Given the description of an element on the screen output the (x, y) to click on. 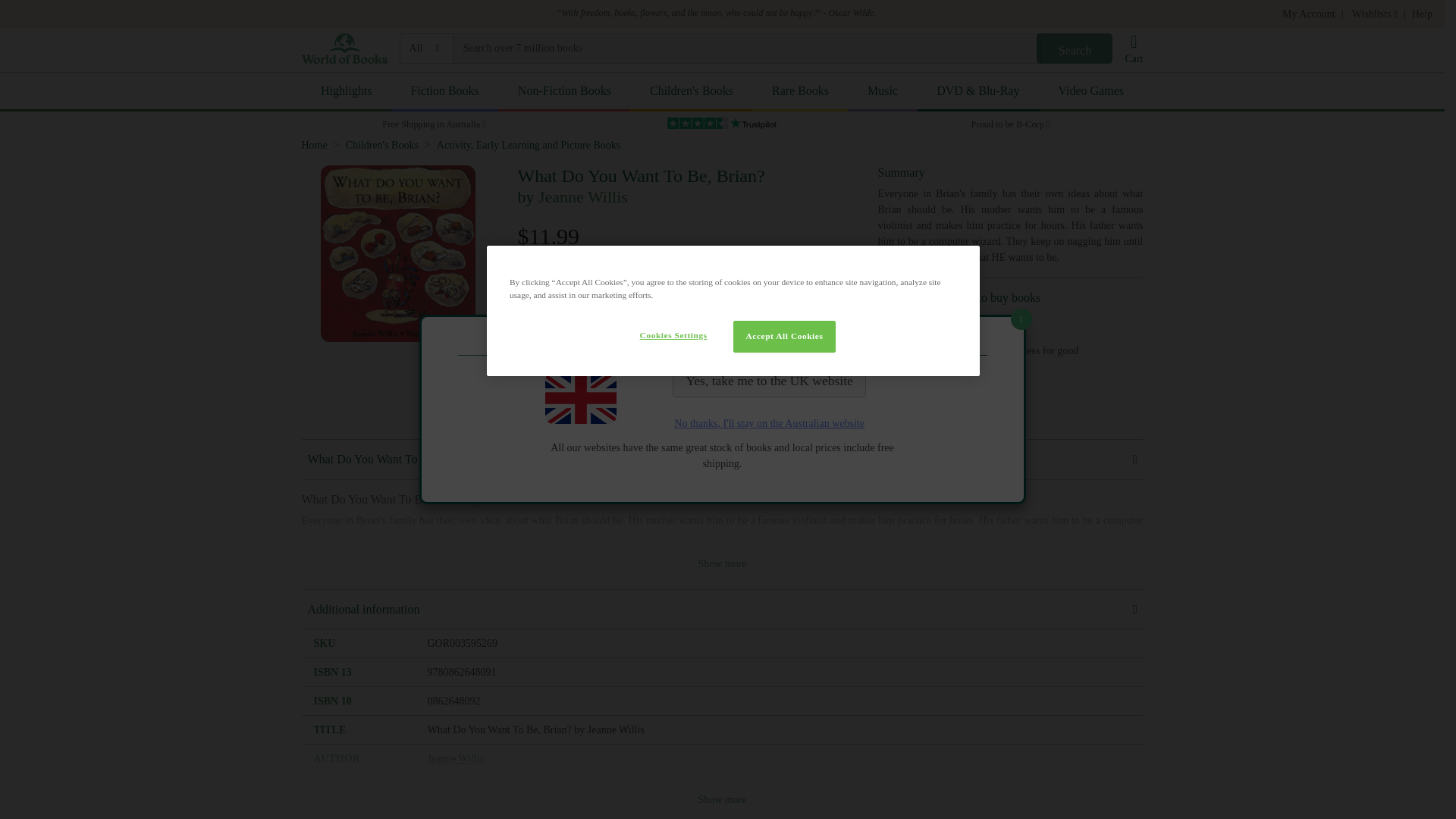
Jeanne Willis (456, 758)
Music (882, 91)
Reviews: (539, 405)
Show more (721, 799)
Trustpilot (721, 122)
Show more (721, 563)
Children's Books (691, 91)
Help (1422, 13)
Jeanne Willis (582, 196)
Wishlists (1373, 13)
Customer reviews powered by Trustpilot (657, 405)
Video Games (1090, 91)
Well Read (772, 317)
Fiction Books (444, 91)
Add to cart (656, 361)
